Given the description of an element on the screen output the (x, y) to click on. 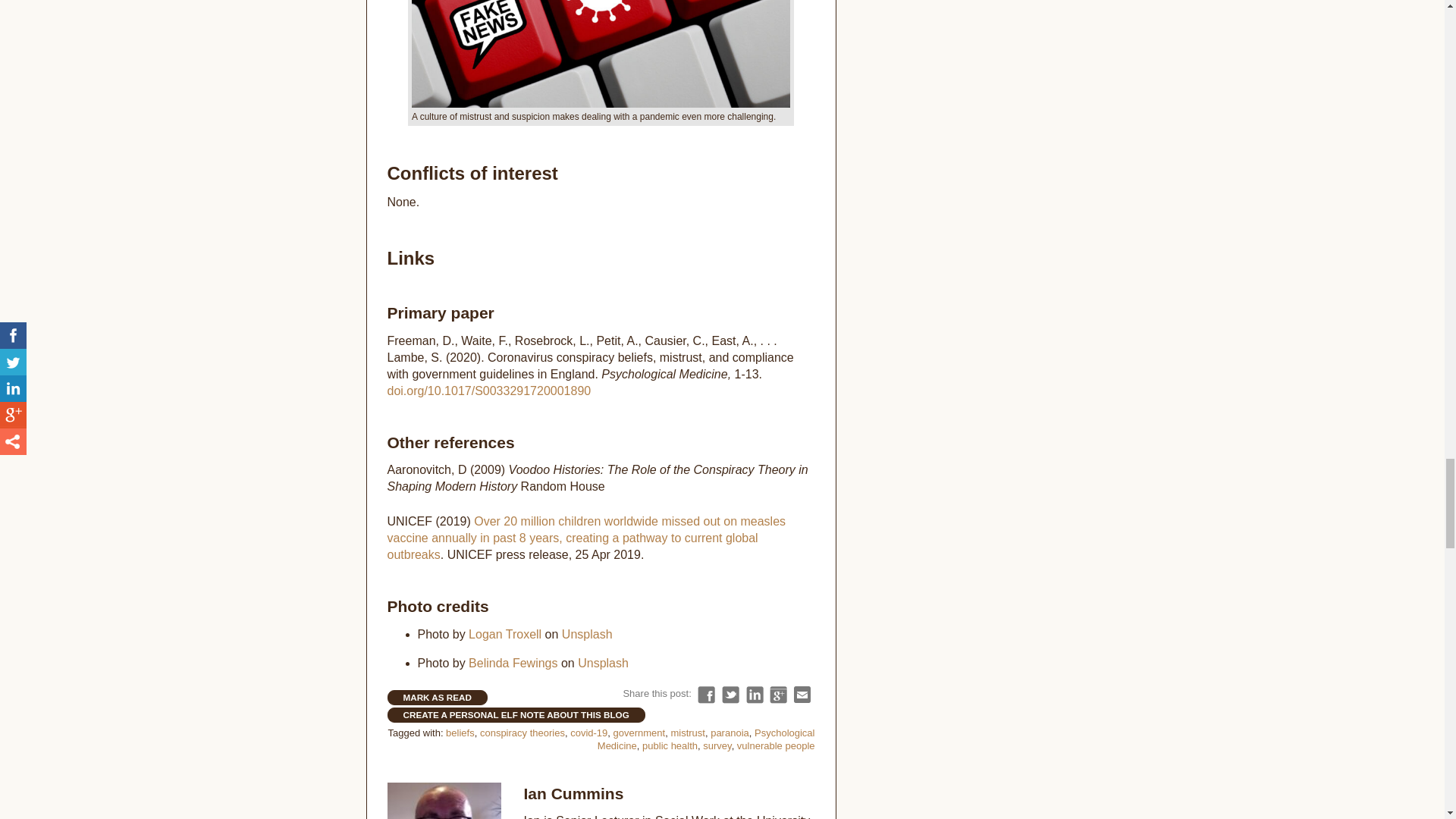
Ian Cummins (572, 792)
Share on LinkedIn (753, 693)
Share on Facebook (705, 693)
Share via email (801, 693)
Tweet this on Twitter (730, 693)
